Given the description of an element on the screen output the (x, y) to click on. 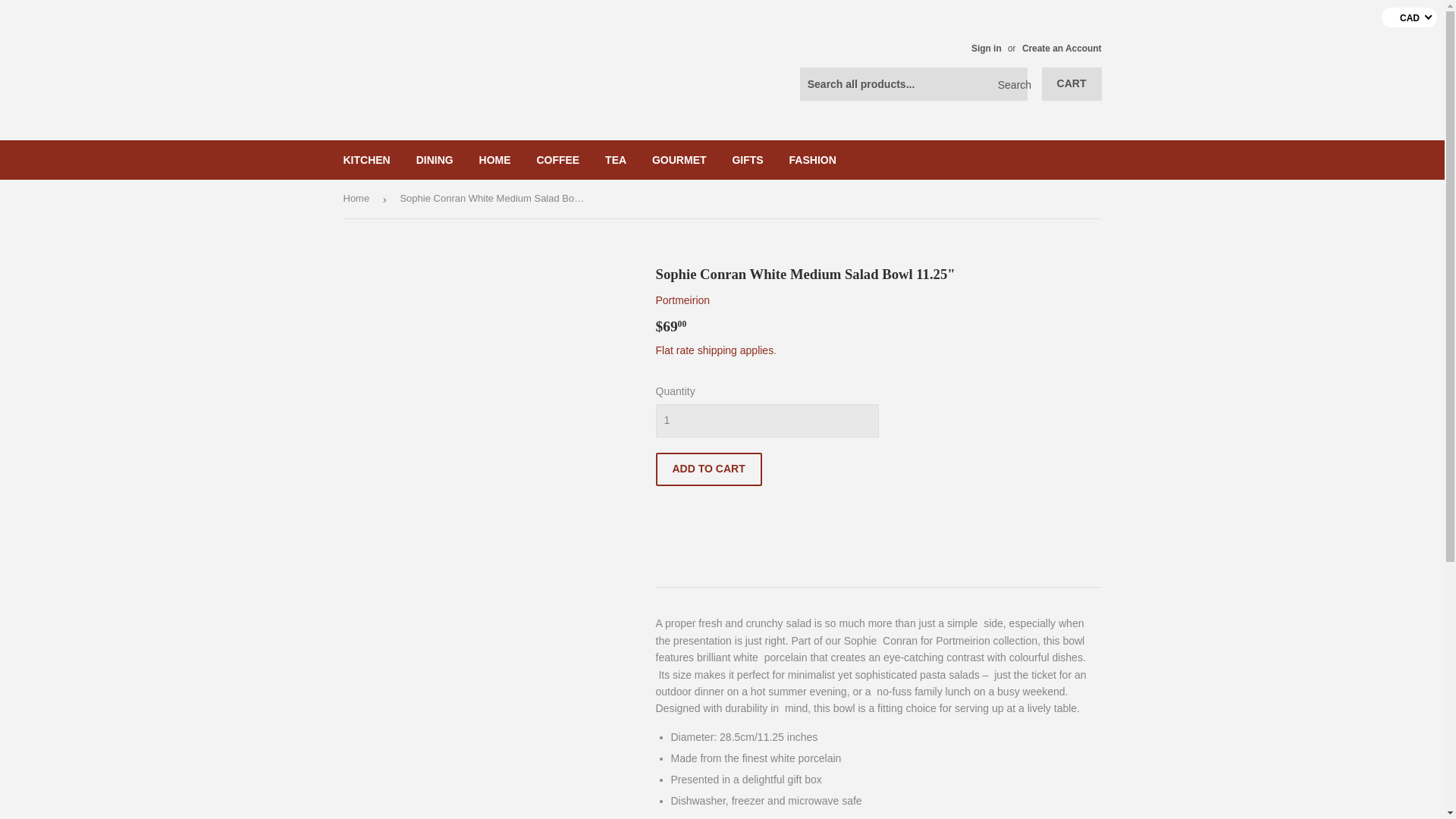
Search (1009, 84)
CART (1072, 83)
1 (766, 420)
Sign in (986, 48)
Create an Account (1062, 48)
Portmeirion (682, 300)
